Given the description of an element on the screen output the (x, y) to click on. 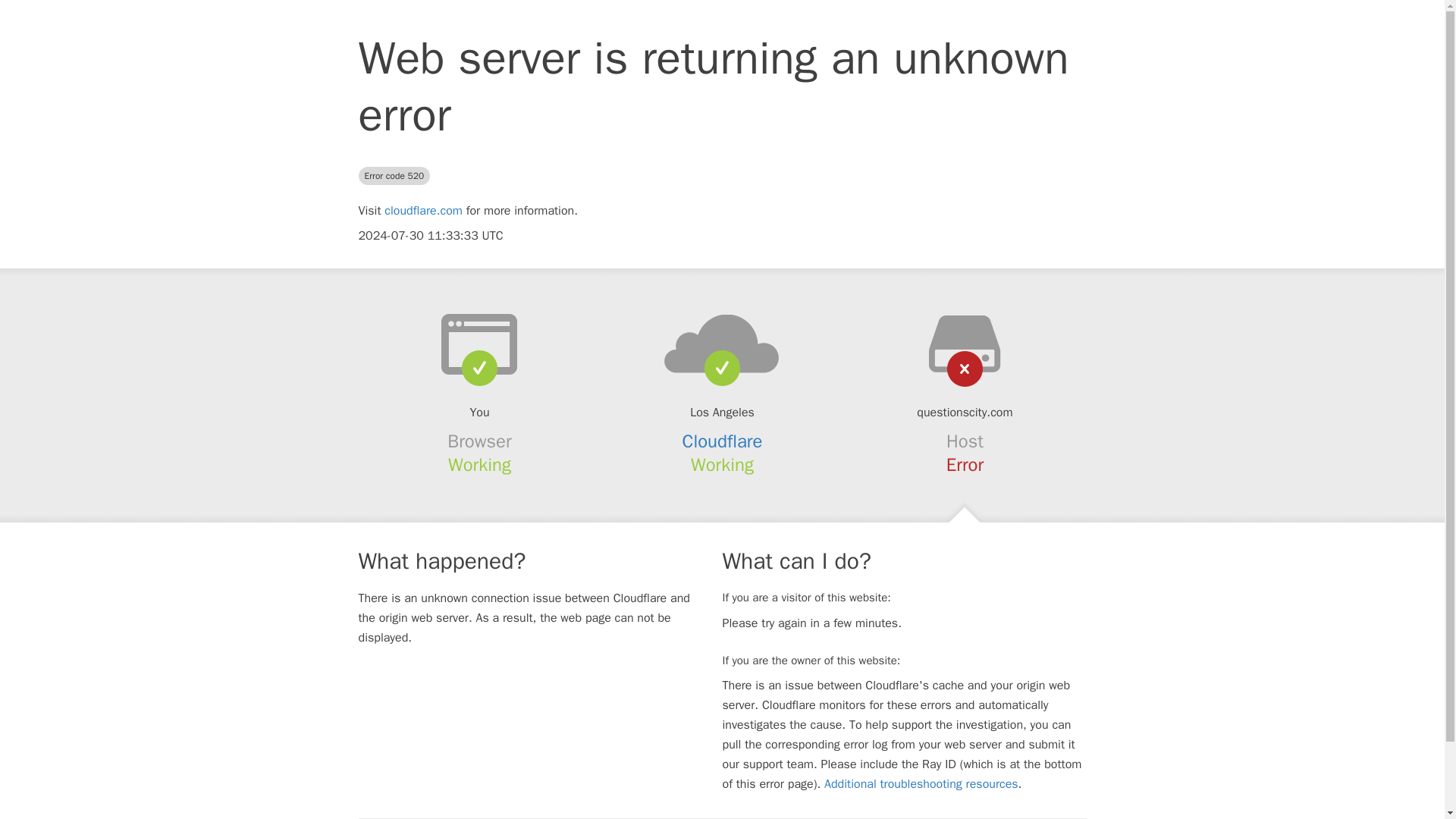
Additional troubleshooting resources (920, 783)
cloudflare.com (423, 210)
Cloudflare (722, 440)
